Given the description of an element on the screen output the (x, y) to click on. 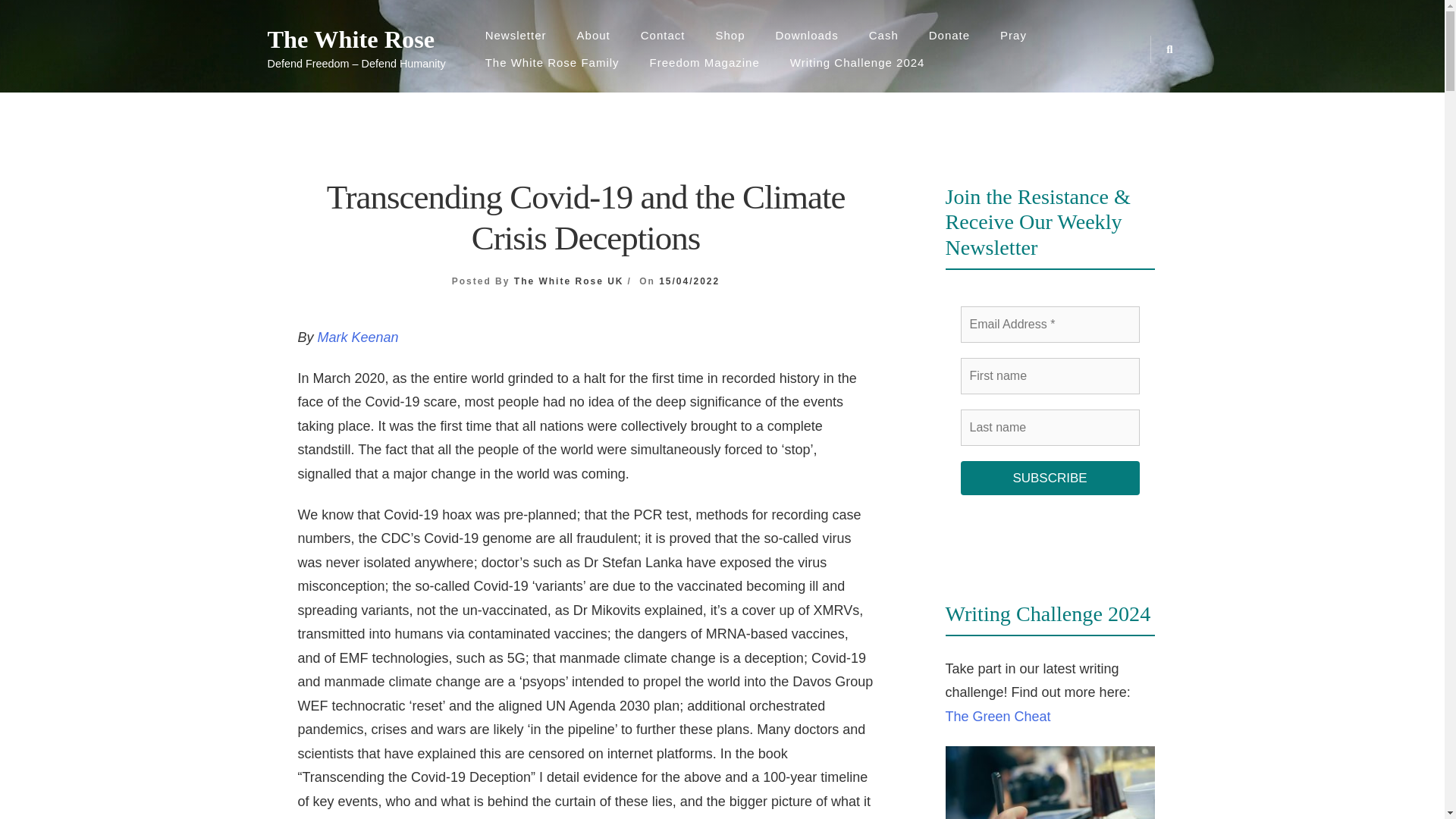
About (594, 35)
First name (1048, 375)
Contact (663, 35)
Subscribe (1048, 478)
Pray (1013, 35)
Email Address (1048, 324)
Shop (730, 35)
Last name (1048, 427)
Cash (883, 35)
Mark Keenan (357, 336)
Downloads (806, 35)
The White Rose (355, 39)
Subscribe (1048, 478)
Donate (949, 35)
Newsletter (516, 35)
